Given the description of an element on the screen output the (x, y) to click on. 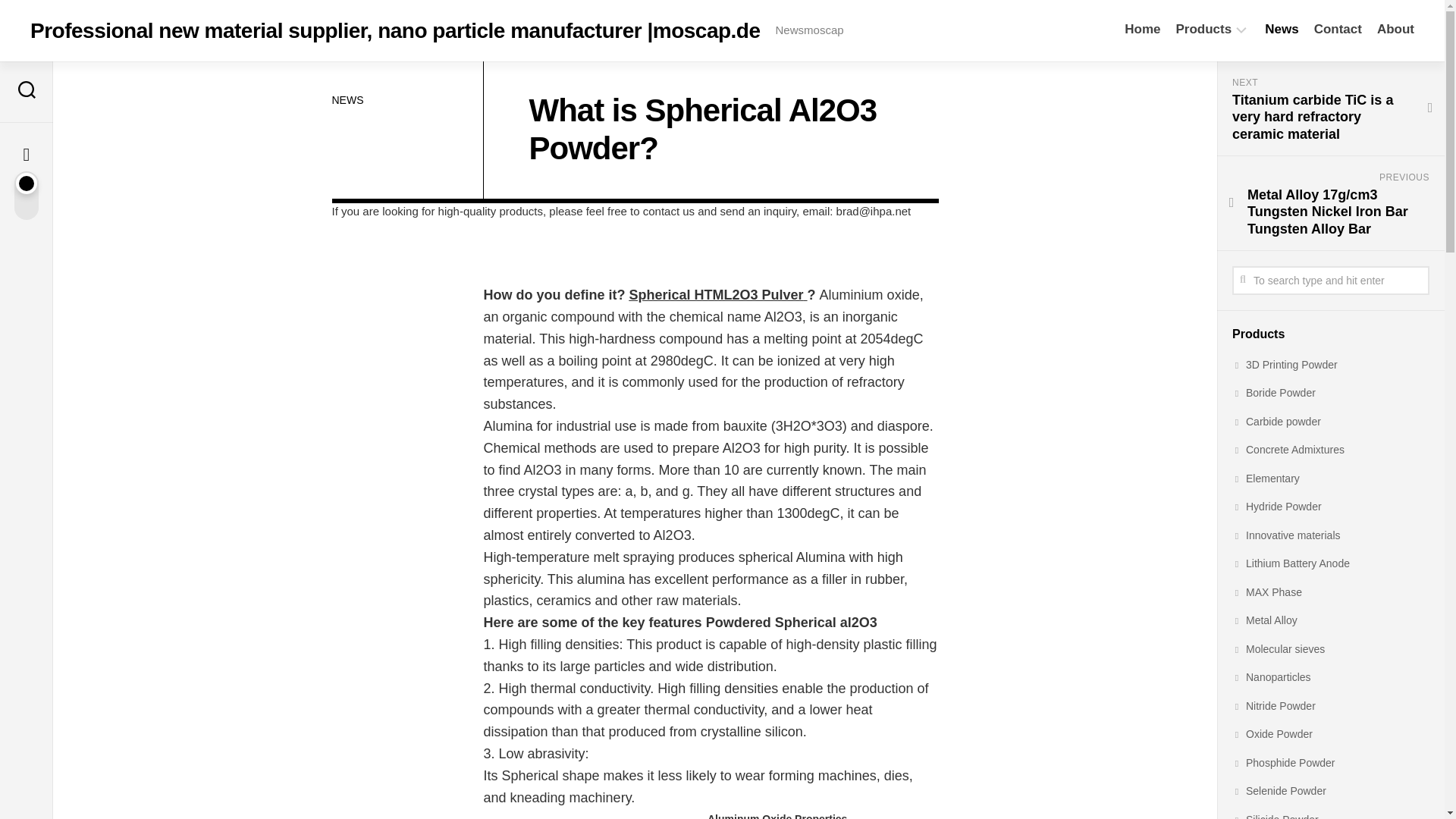
About (1395, 29)
News (1281, 29)
To search type and hit enter (1330, 280)
To search type and hit enter (1330, 280)
Home (1142, 29)
Products (1203, 29)
Contact (1337, 29)
